Given the description of an element on the screen output the (x, y) to click on. 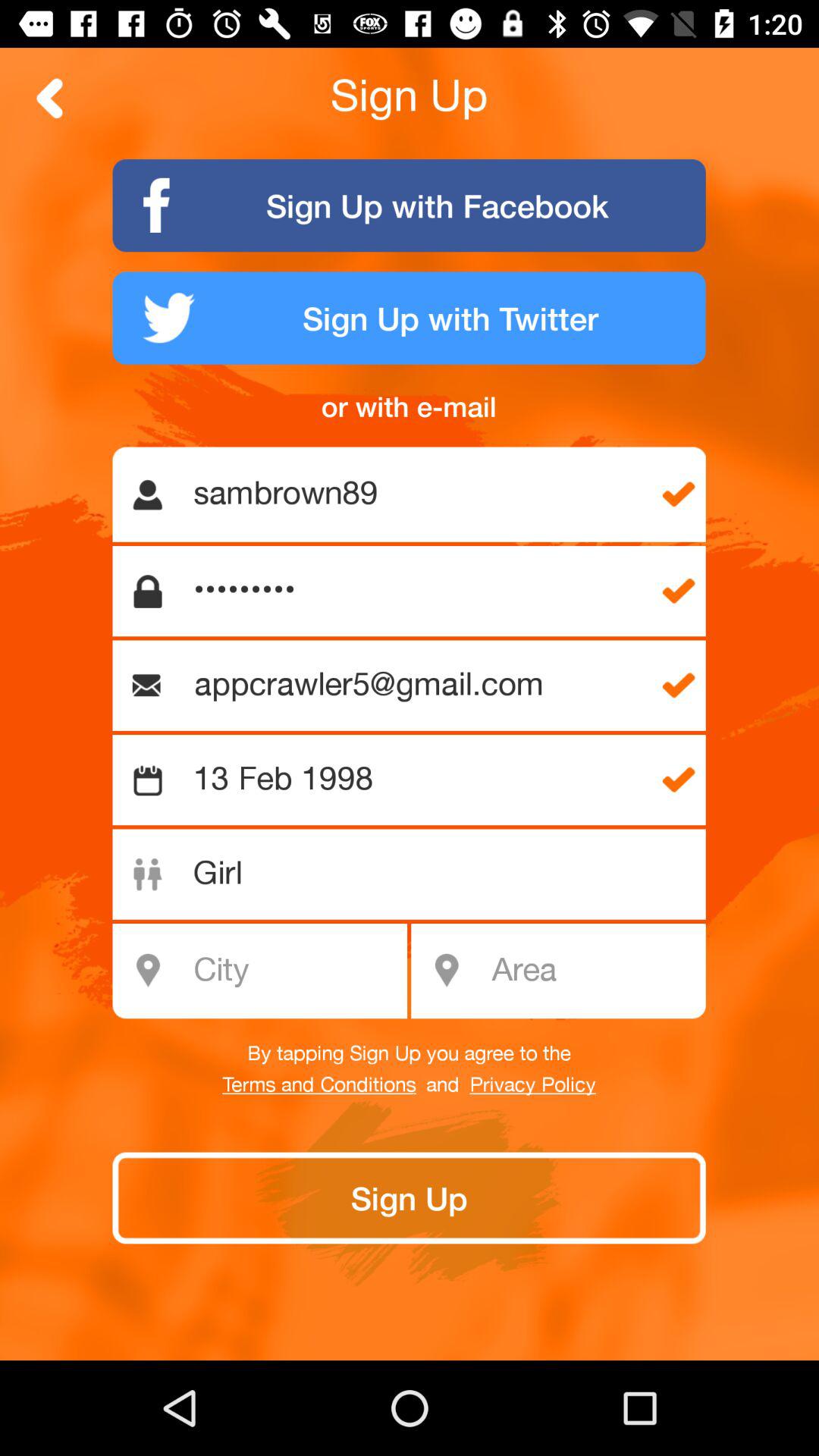
go back (50, 98)
